Given the description of an element on the screen output the (x, y) to click on. 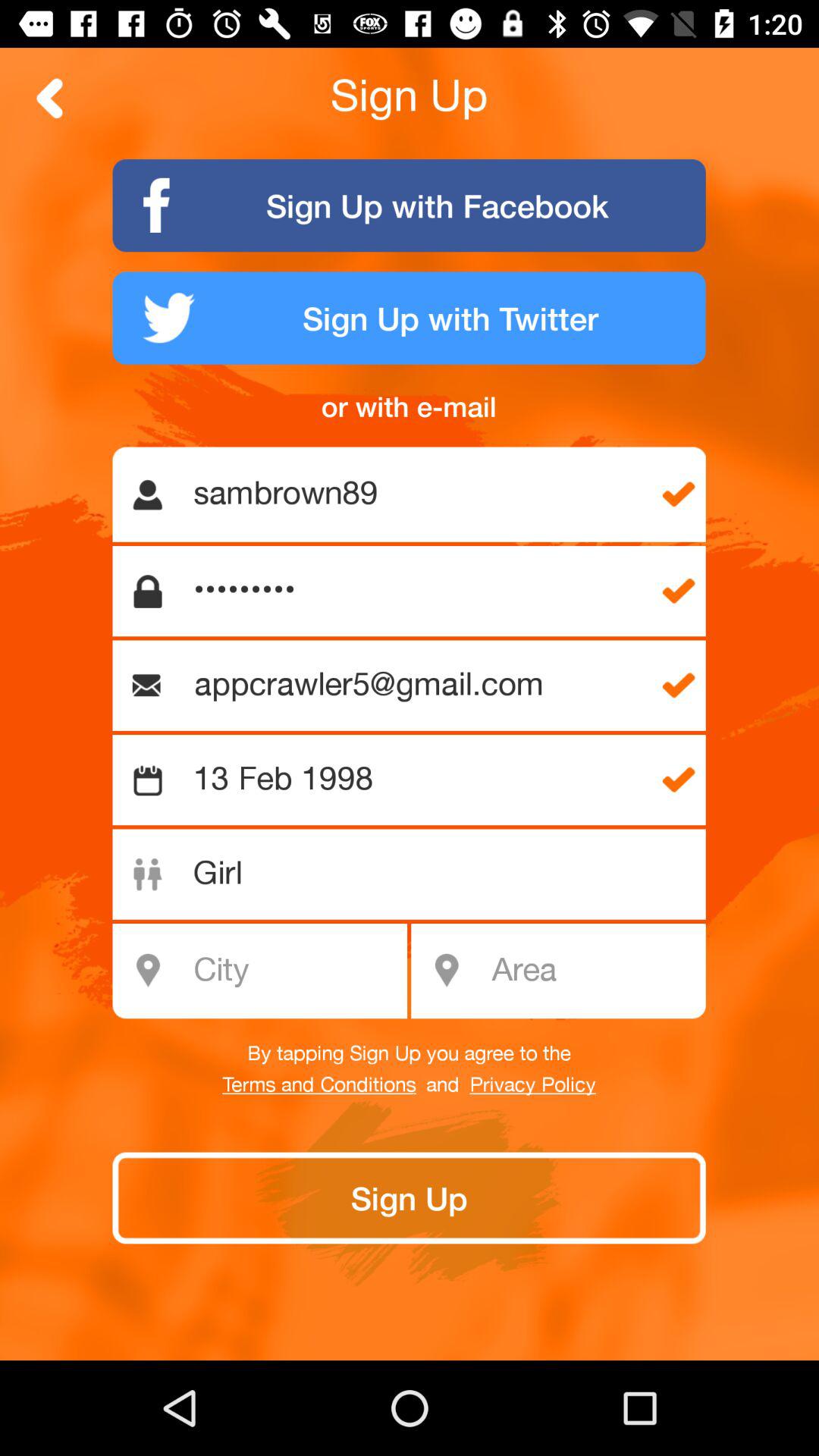
go back (50, 98)
